Given the description of an element on the screen output the (x, y) to click on. 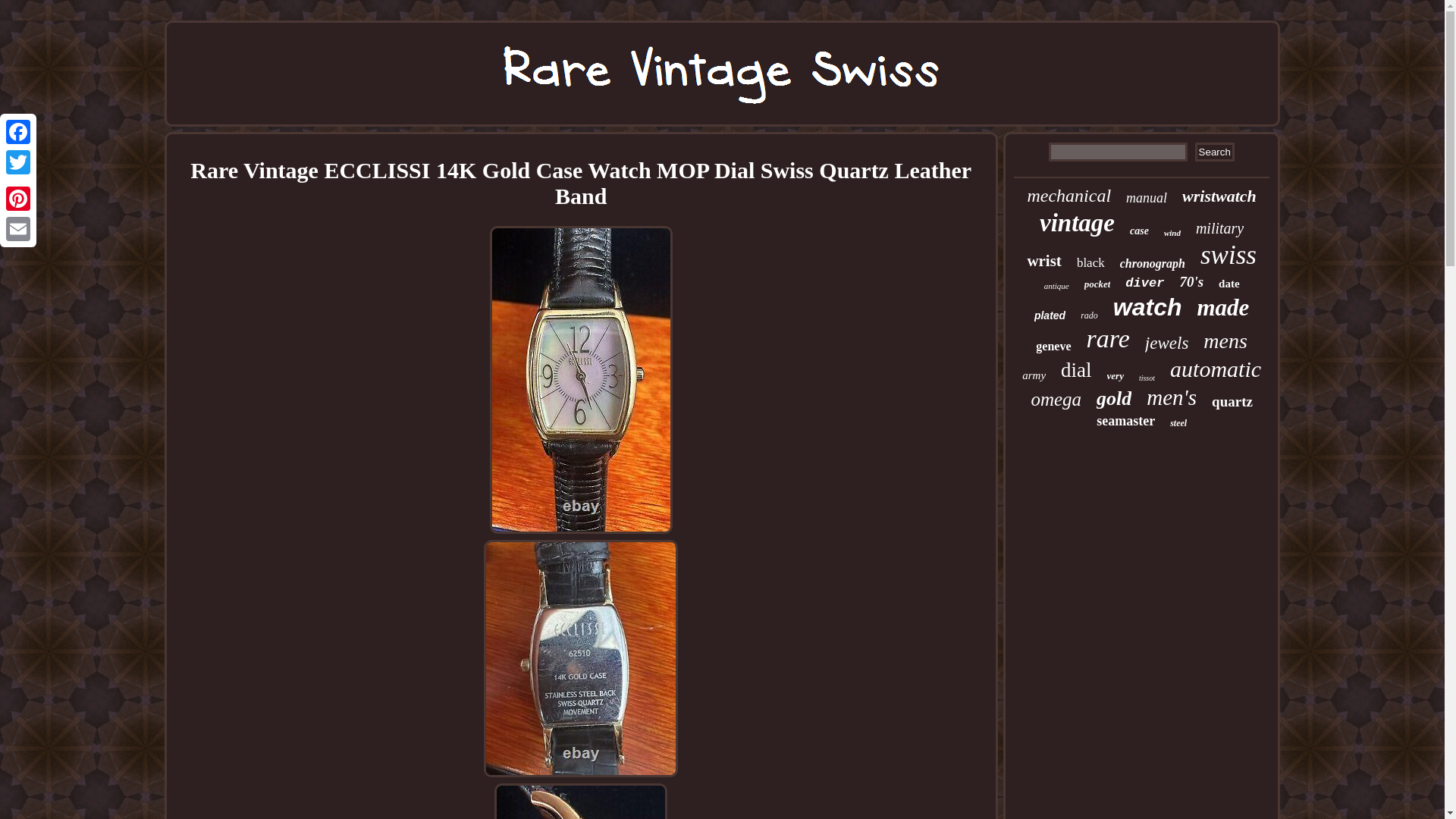
manual (1146, 198)
black (1091, 263)
Email (17, 228)
pocket (1097, 284)
70's (1191, 281)
wristwatch (1219, 196)
military (1219, 228)
Facebook (17, 132)
Search (1214, 151)
Search (1214, 151)
antique (1055, 285)
vintage (1077, 223)
wrist (1043, 261)
Twitter (17, 162)
